Given the description of an element on the screen output the (x, y) to click on. 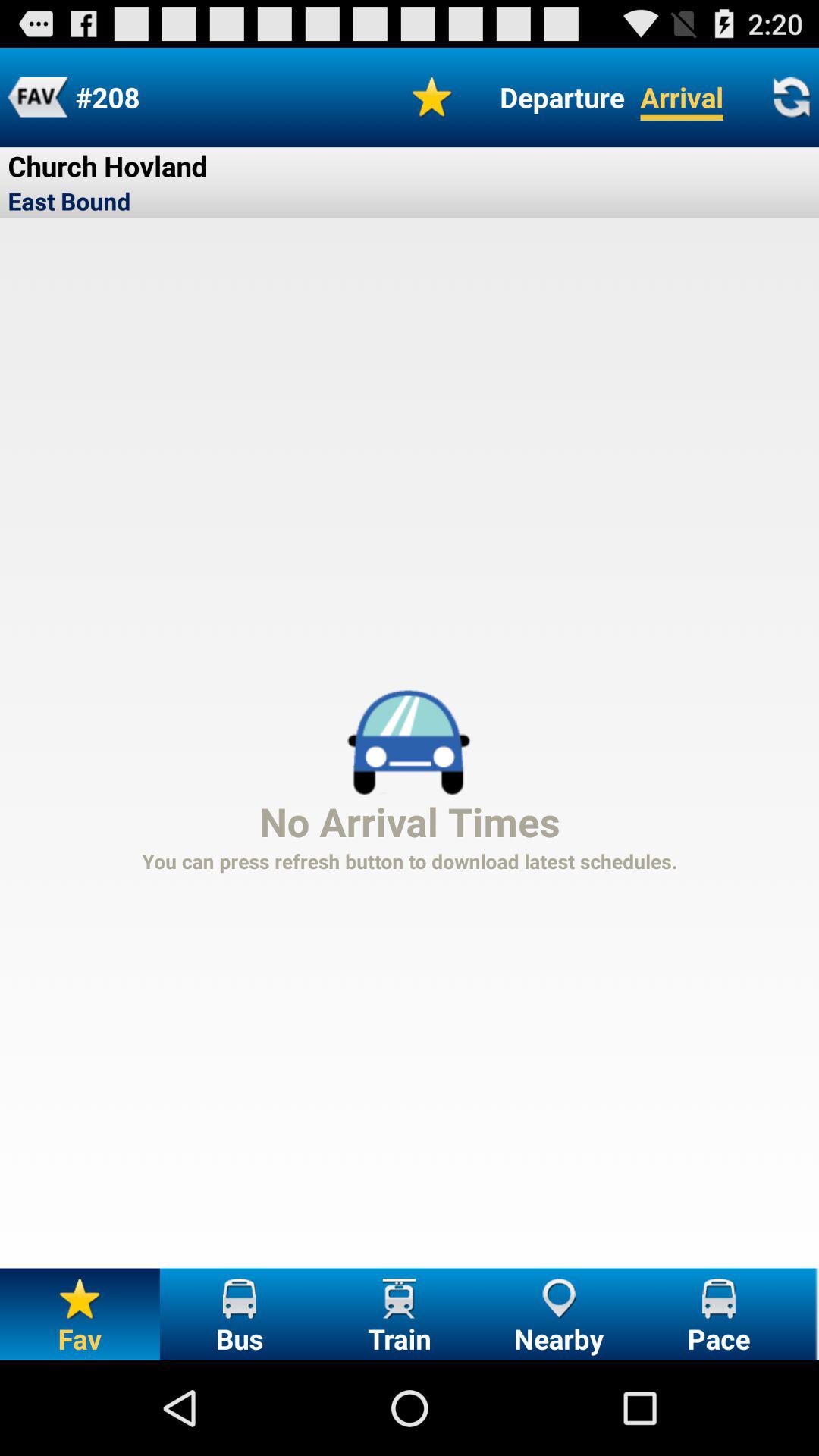
turn on the icon to the left of the departure item (432, 97)
